Given the description of an element on the screen output the (x, y) to click on. 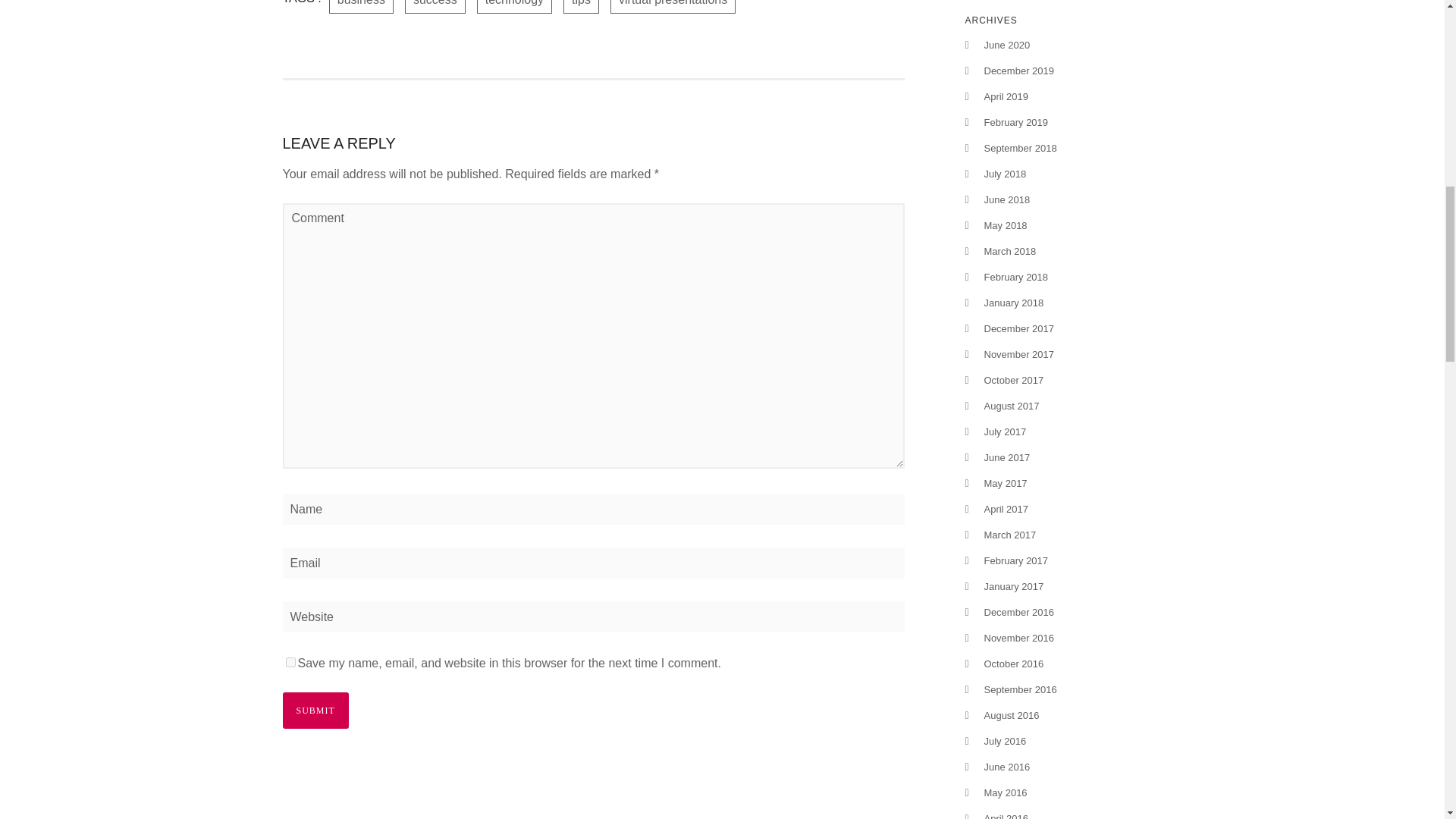
business (361, 6)
Submit (314, 710)
yes (290, 662)
success (434, 6)
